Given the description of an element on the screen output the (x, y) to click on. 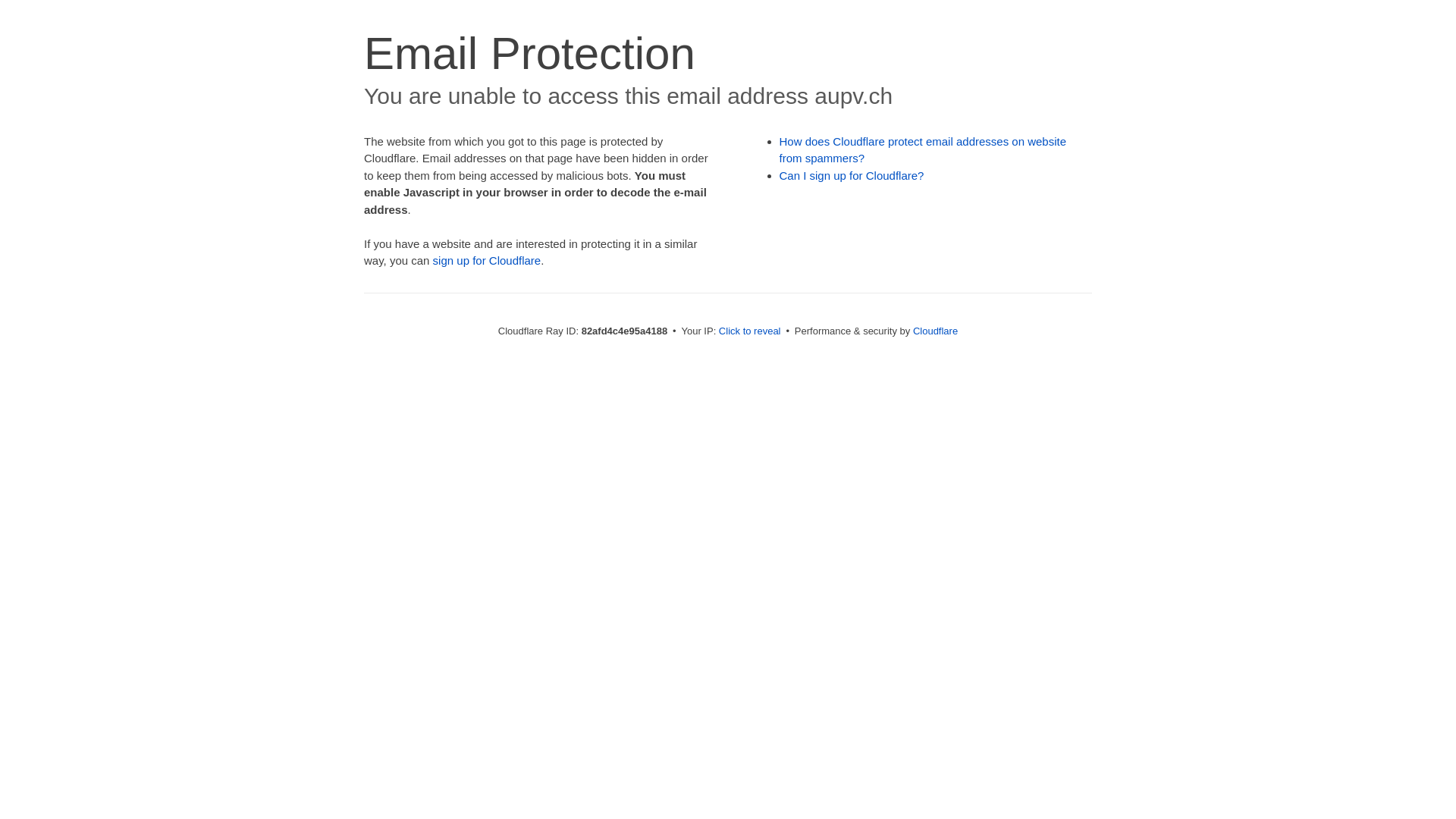
Cloudflare Element type: text (935, 330)
Click to reveal Element type: text (749, 330)
sign up for Cloudflare Element type: text (487, 260)
Can I sign up for Cloudflare? Element type: text (851, 175)
